Given the description of an element on the screen output the (x, y) to click on. 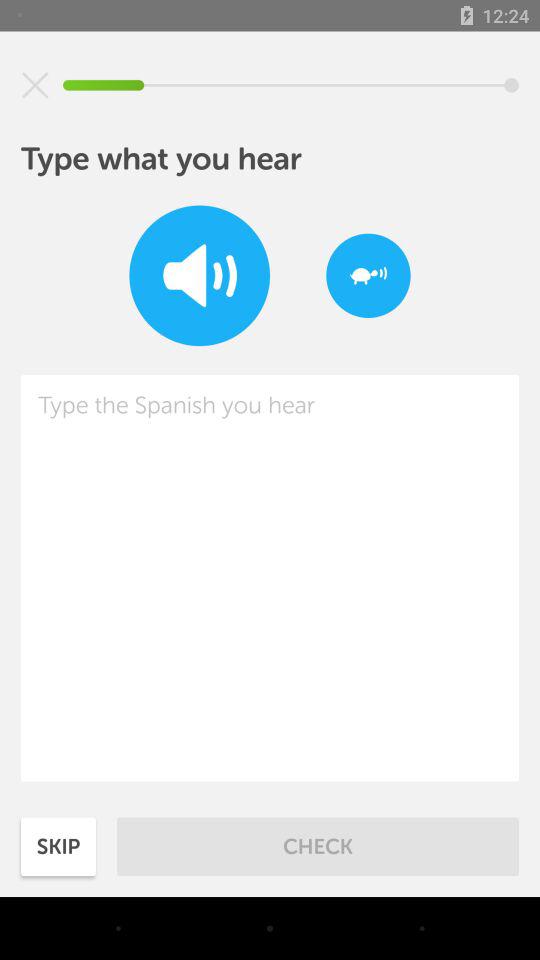
press icon next to skip icon (318, 846)
